Given the description of an element on the screen output the (x, y) to click on. 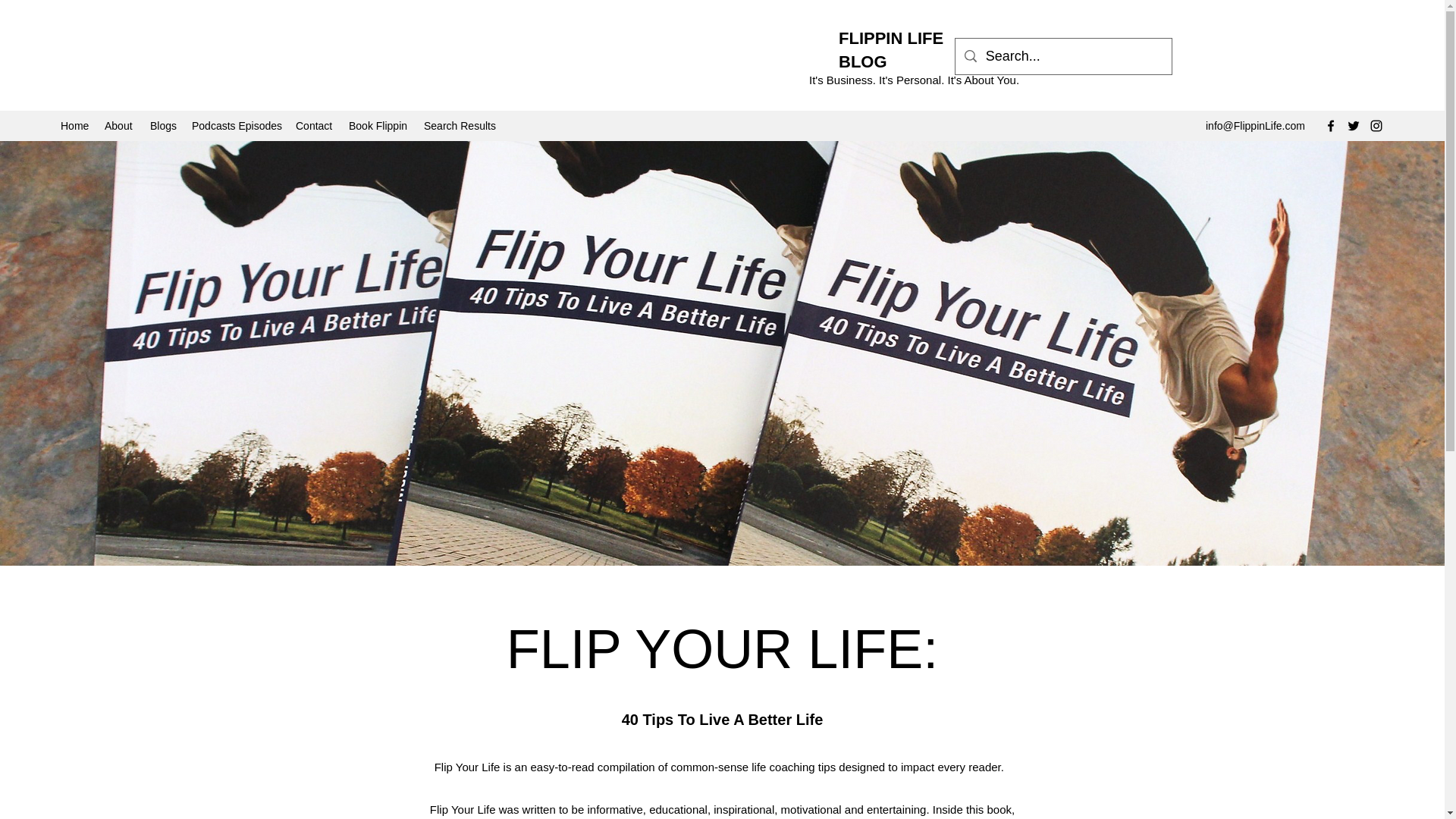
Book Flippin (378, 125)
Contact (314, 125)
Podcasts Episodes (236, 125)
Home (74, 125)
FLIPPIN LIFE BLOG (890, 49)
Blogs (163, 125)
Search Results (458, 125)
About (119, 125)
